Given the description of an element on the screen output the (x, y) to click on. 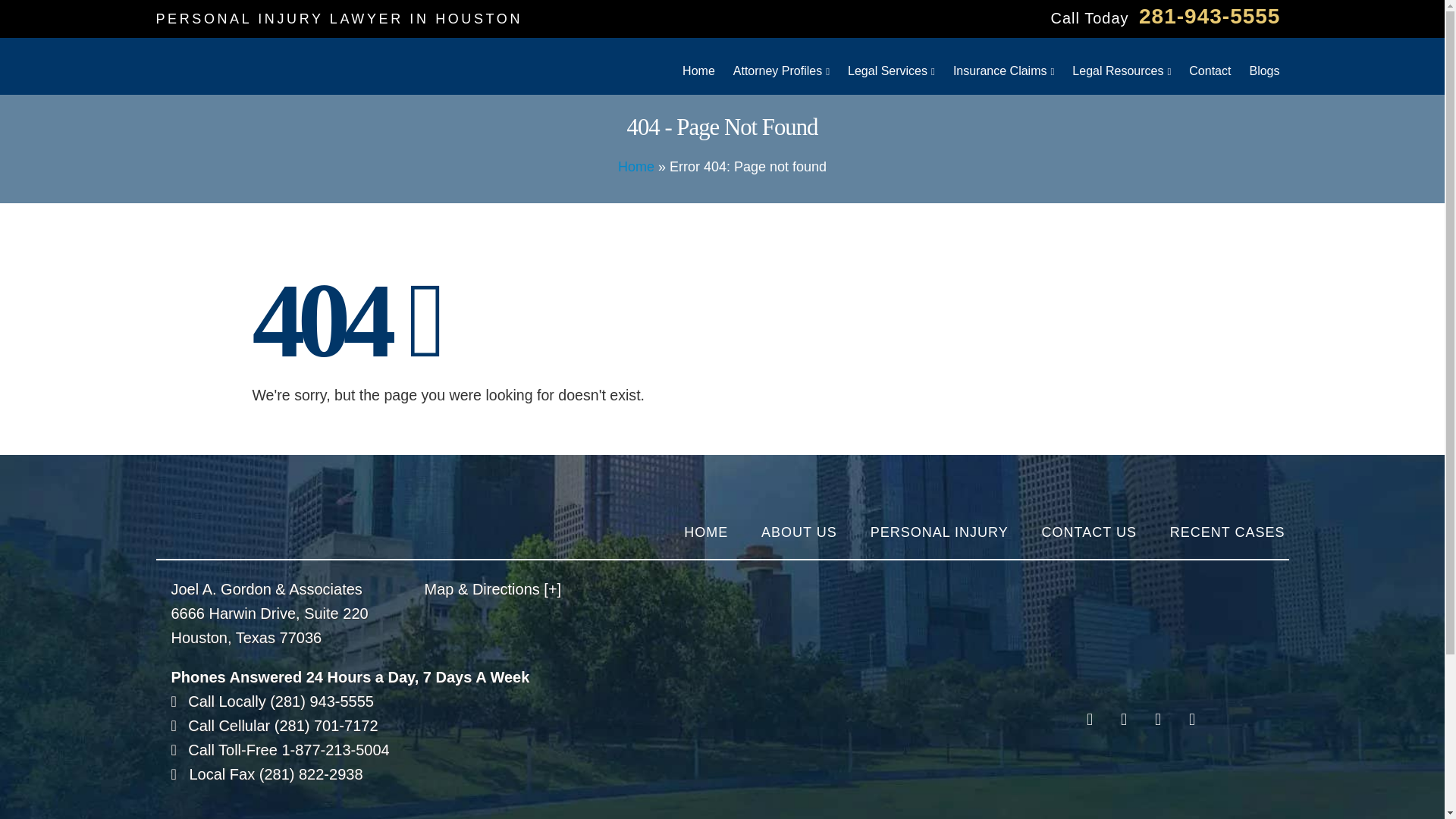
Home (697, 65)
Attorney Profiles (780, 66)
281-943-5555 (1208, 15)
Legal Services (890, 66)
